Given the description of an element on the screen output the (x, y) to click on. 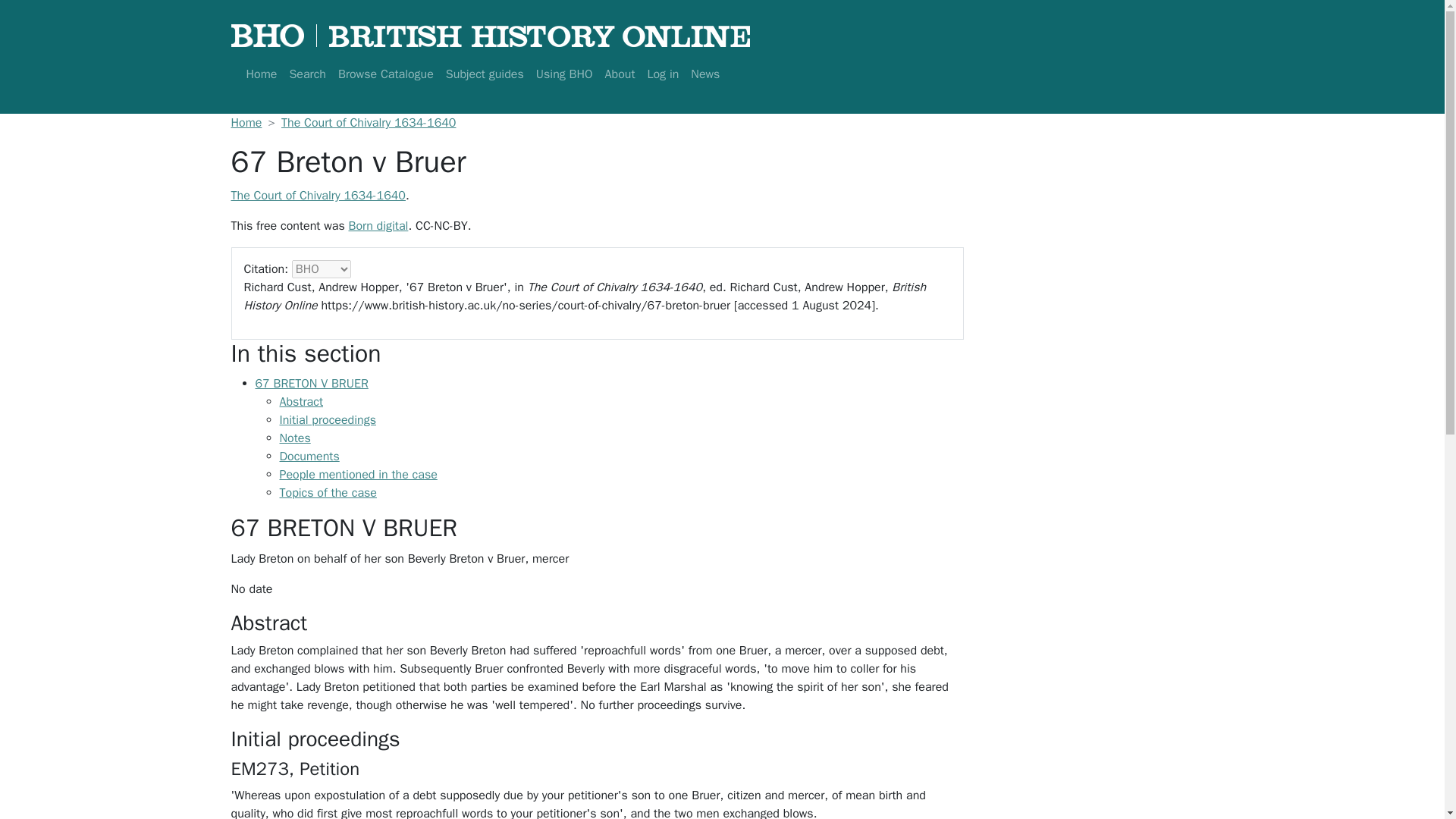
Abstract (301, 401)
The Court of Chivalry 1634-1640 (368, 122)
Born digital (377, 225)
People mentioned in the case (357, 474)
67 BRETON V BRUER (311, 383)
Notes (294, 437)
About (620, 73)
The Court of Chivalry 1634-1640 (317, 195)
Subject guides (484, 73)
Topics of the case (327, 492)
Using BHO (563, 73)
Browse Catalogue (385, 73)
Log in (662, 73)
Search (306, 73)
Home (261, 73)
